Given the description of an element on the screen output the (x, y) to click on. 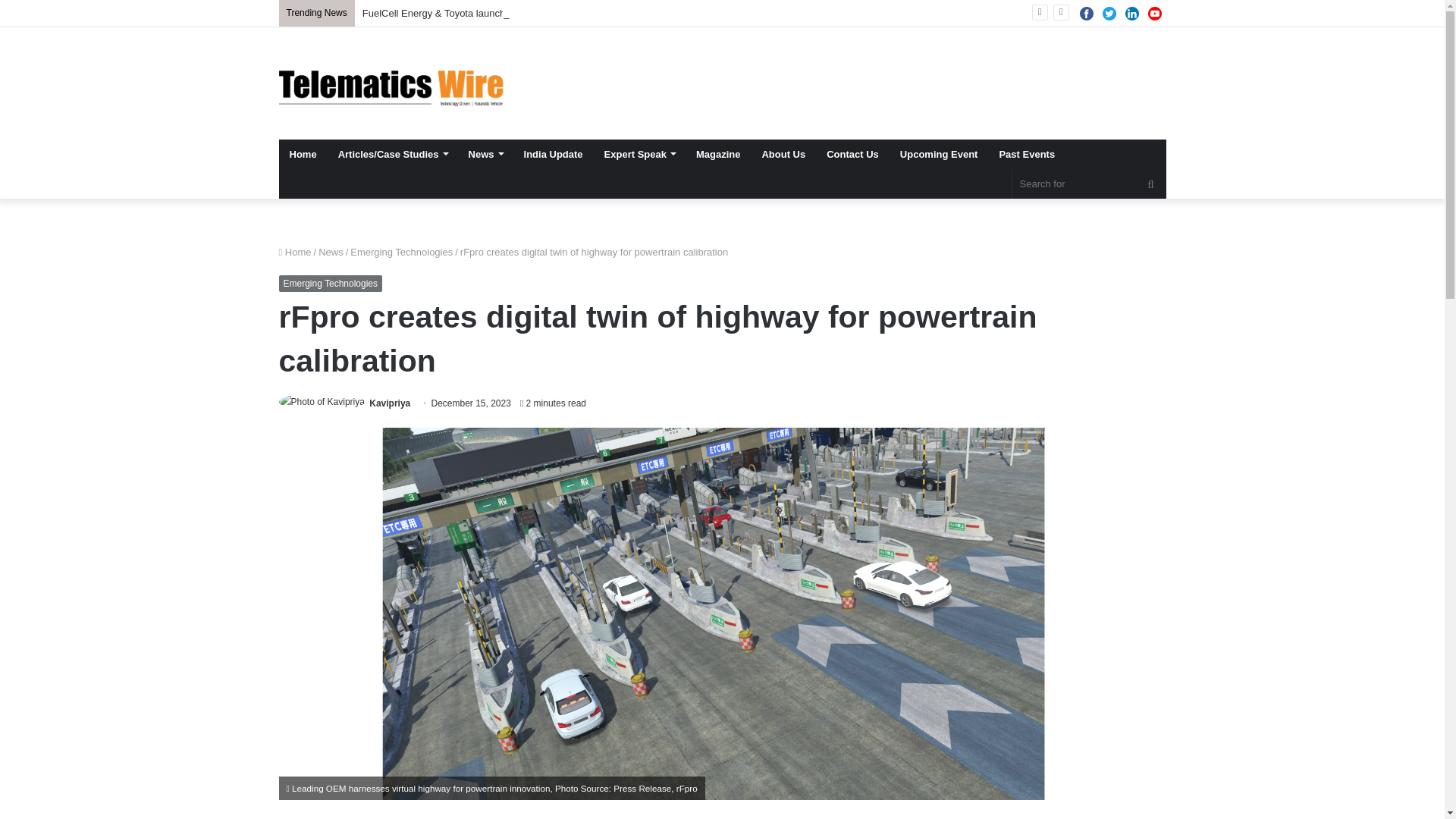
India Update (553, 153)
Upcoming Event (938, 153)
Past Events (1026, 153)
News (485, 153)
About Us (783, 153)
Contact Us (852, 153)
Magazine (718, 153)
Telematics Wire (392, 82)
Kavipriya (389, 403)
Home (303, 153)
Expert Speak (639, 153)
Search for (1088, 183)
